Given the description of an element on the screen output the (x, y) to click on. 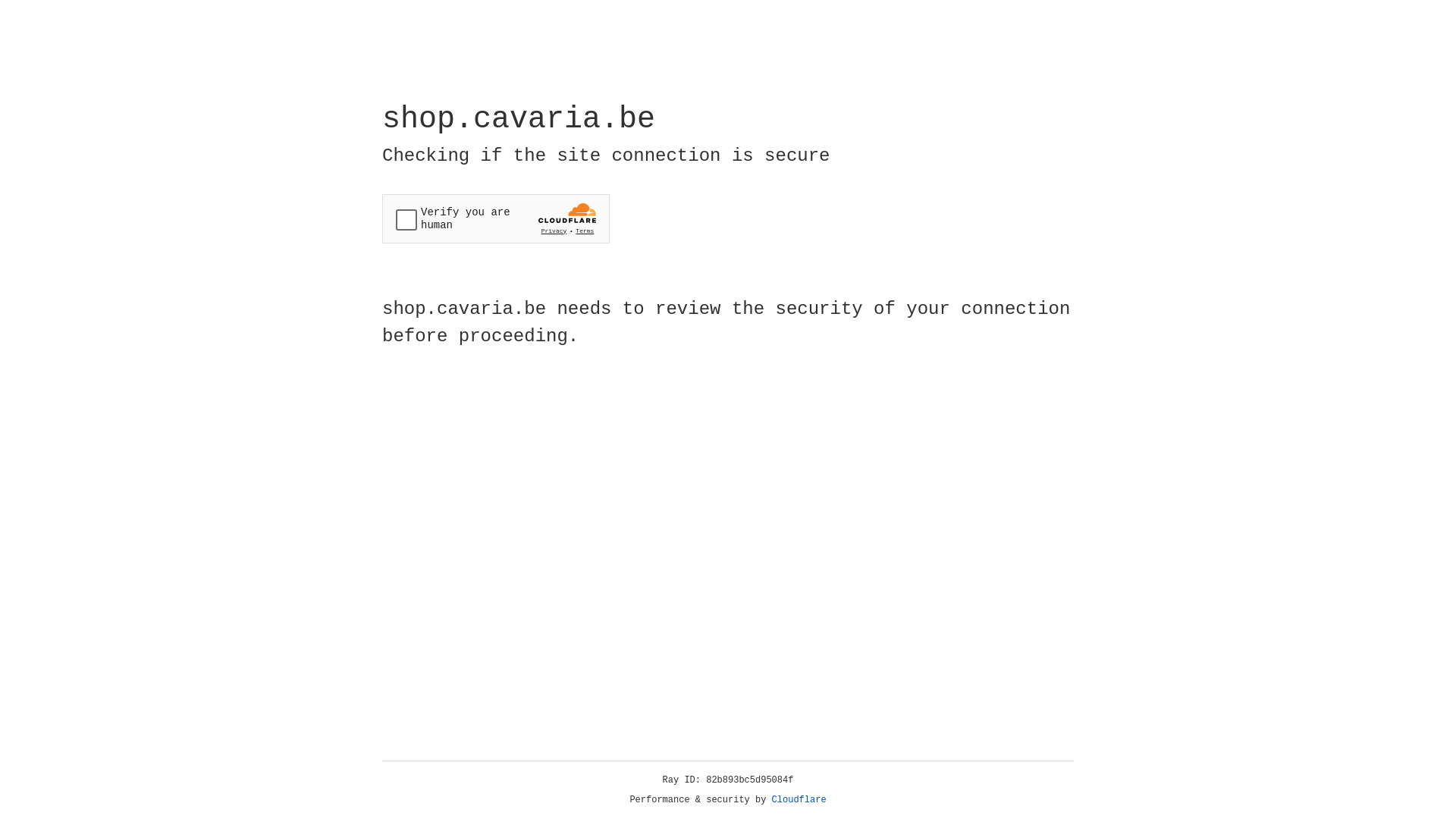
Cloudflare Element type: text (798, 799)
Widget containing a Cloudflare security challenge Element type: hover (495, 218)
